Given the description of an element on the screen output the (x, y) to click on. 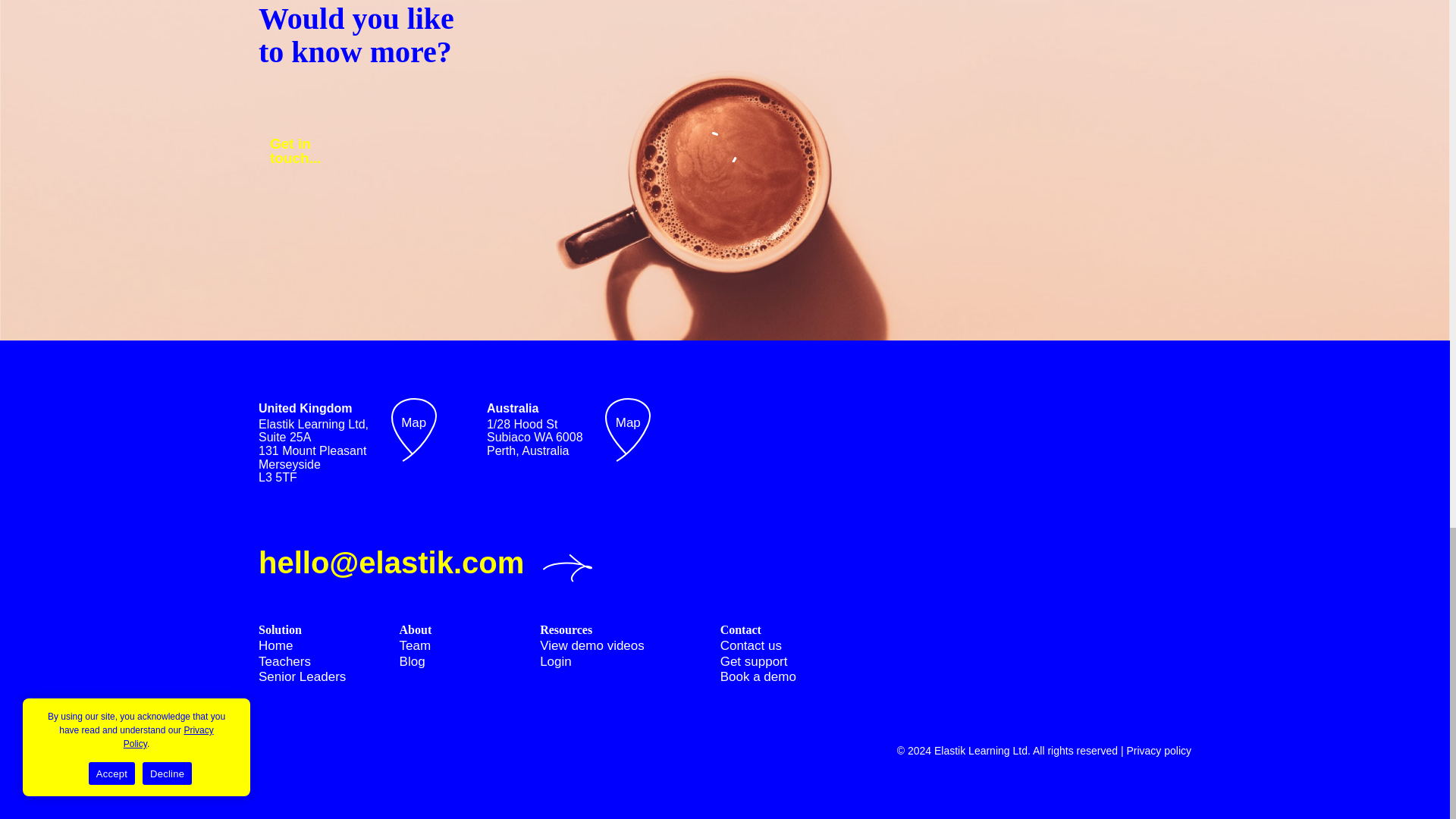
Login (556, 661)
Blog (323, 150)
Map (411, 661)
Get support (627, 422)
Contact us (753, 661)
Senior Leaders (750, 645)
Teachers (302, 676)
View demo videos (285, 661)
Book a demo (592, 645)
Map (758, 676)
Team (413, 422)
Home (414, 645)
Privacy policy (275, 645)
